Given the description of an element on the screen output the (x, y) to click on. 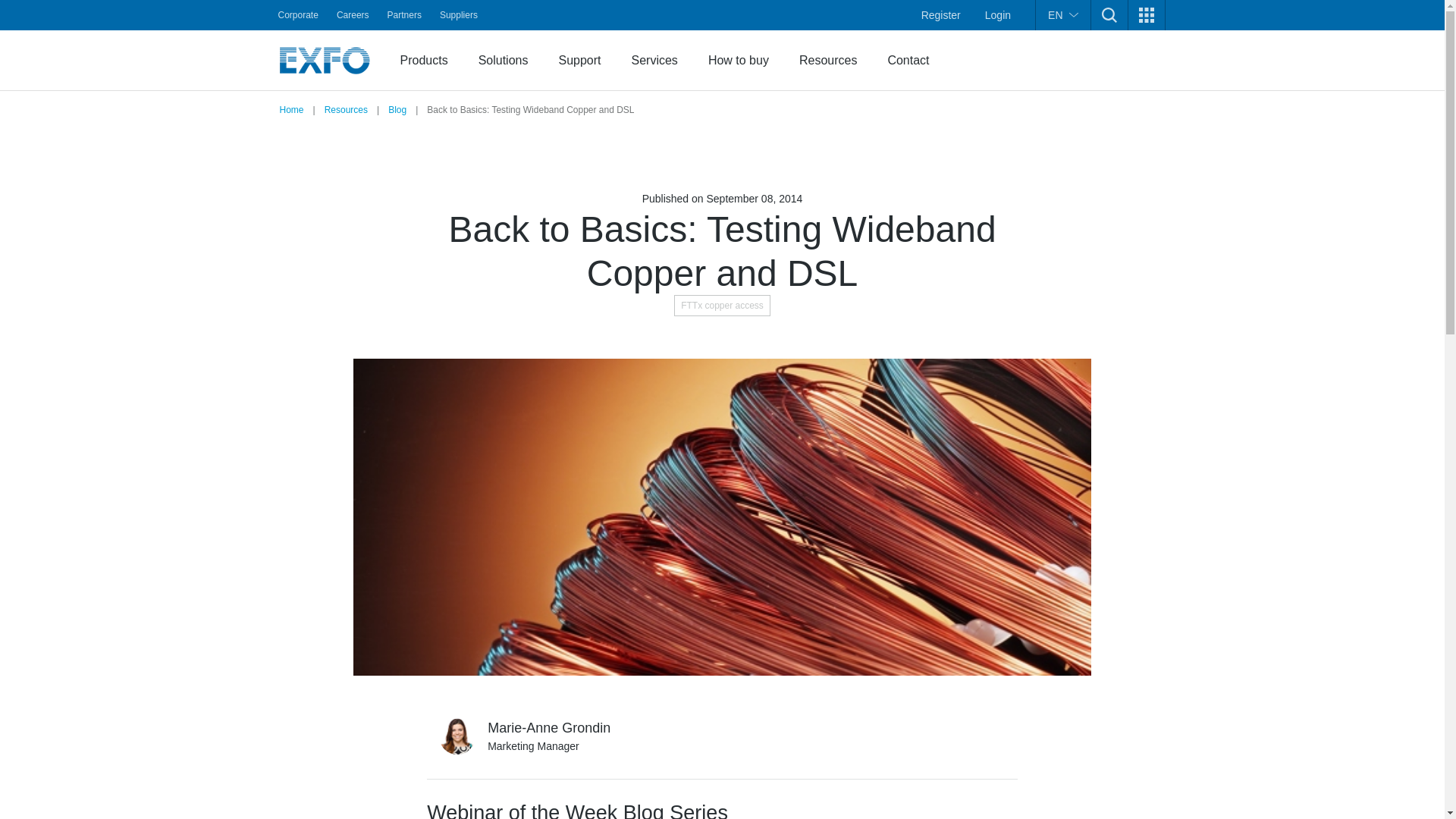
Products (424, 60)
Corporate (296, 15)
Login (997, 15)
Search (1095, 23)
EN (1062, 15)
Register (940, 15)
Partners (404, 15)
Skip to main content (11, 41)
Careers (352, 15)
Suppliers (458, 15)
